Given the description of an element on the screen output the (x, y) to click on. 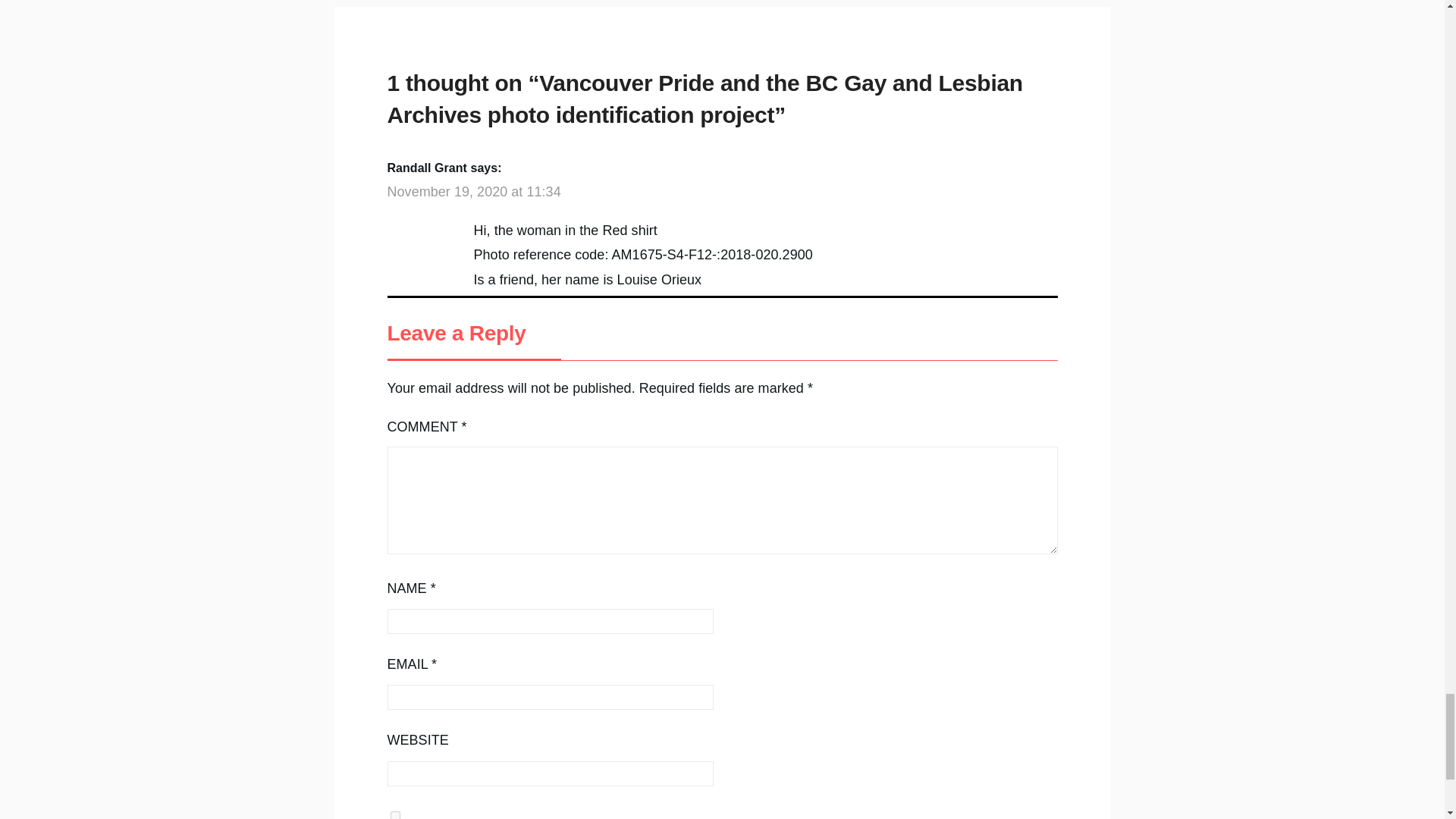
yes (394, 815)
